Given the description of an element on the screen output the (x, y) to click on. 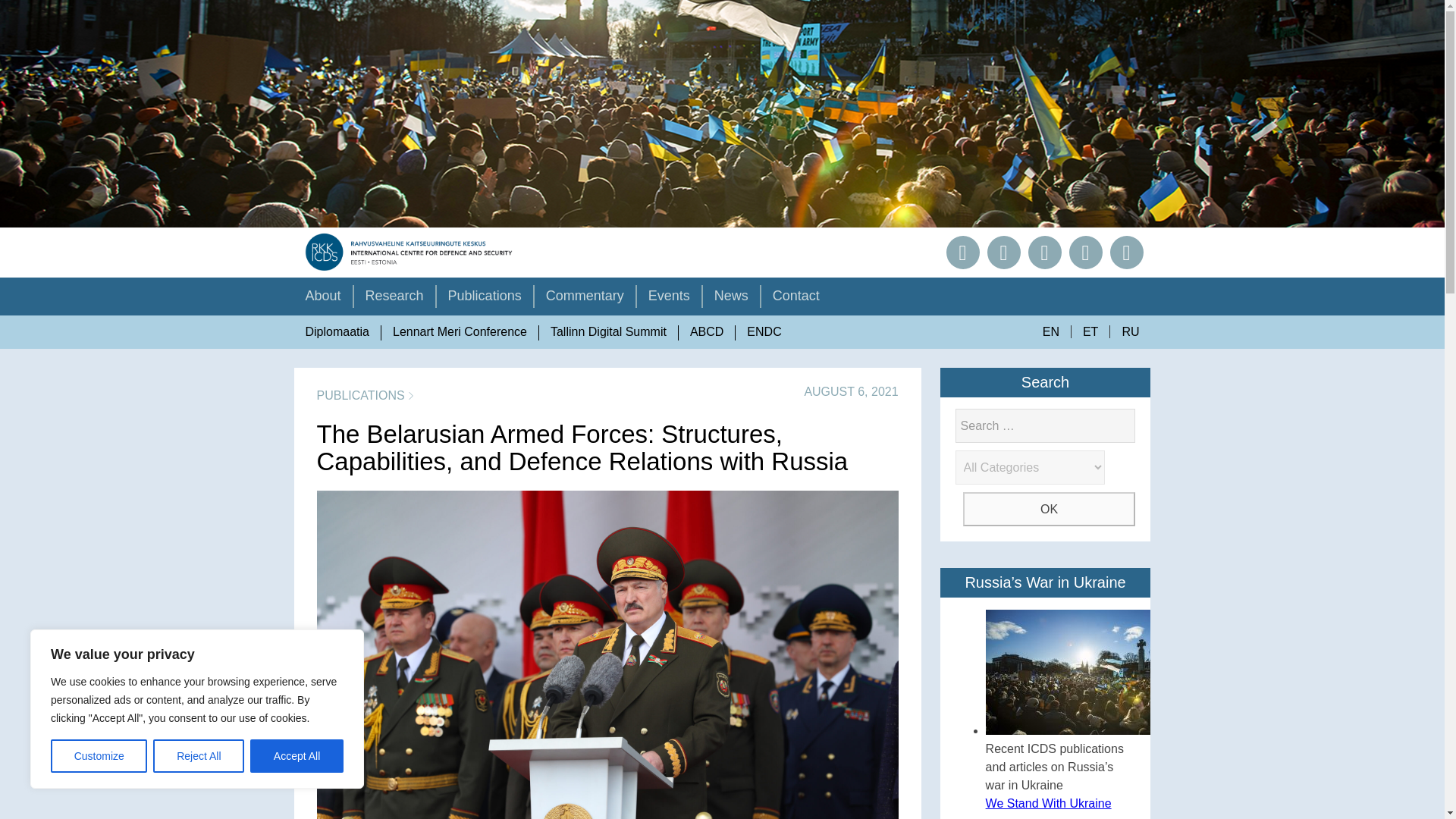
Reject All (198, 756)
Diplomaatia (337, 331)
Commentary (584, 300)
Accept All (296, 756)
ENDC (763, 331)
Research (394, 300)
OK (1048, 509)
Lennart Meri Conference (459, 331)
Contact (796, 300)
Publications (484, 300)
ET (1090, 331)
Tallinn Digital Summit (608, 331)
ABCD (706, 331)
Events (669, 300)
About (323, 300)
